Given the description of an element on the screen output the (x, y) to click on. 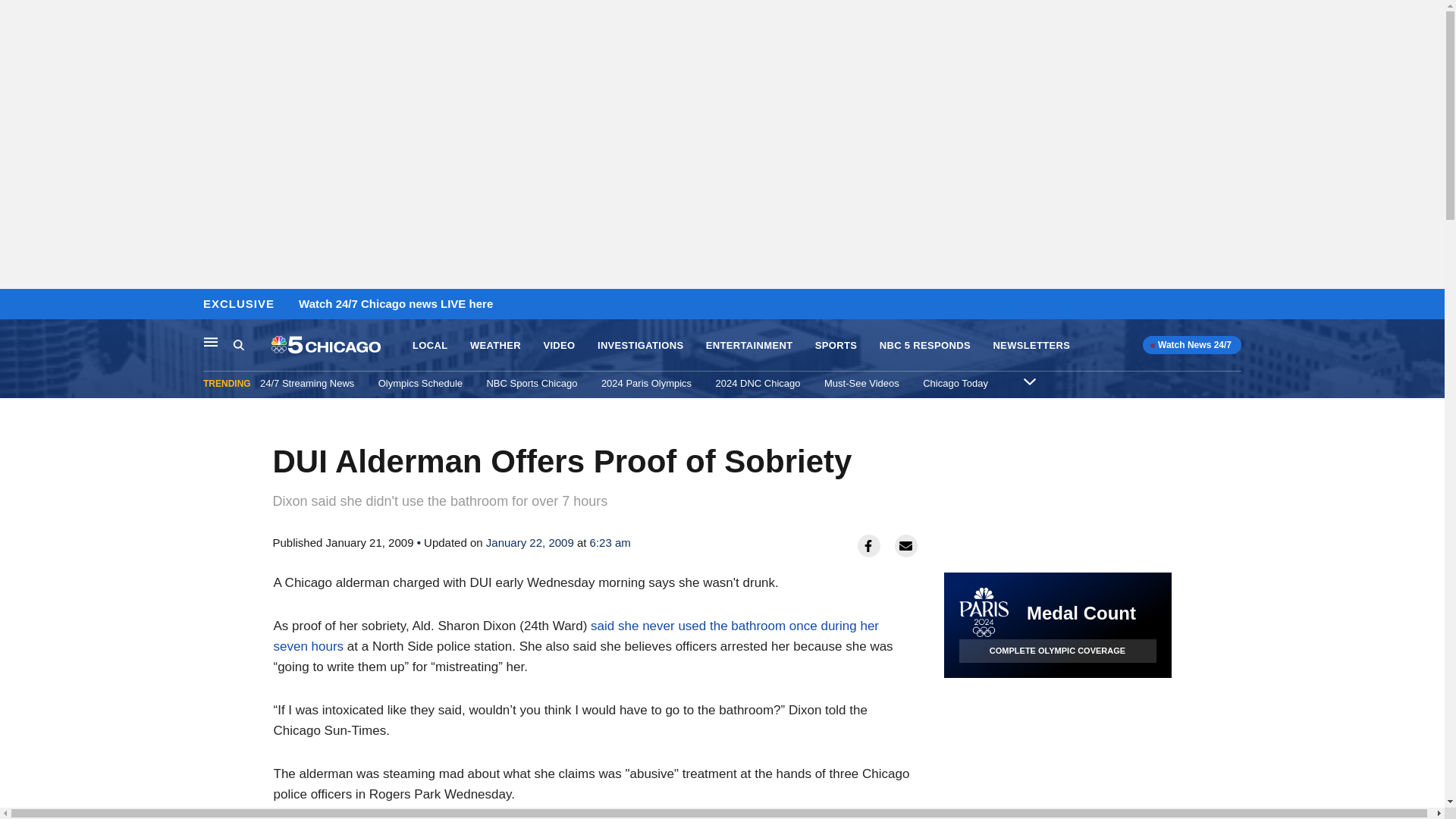
NBC Sports Chicago (531, 383)
NBC 5 RESPONDS (925, 345)
ENTERTAINMENT (749, 345)
NEWSLETTERS (1031, 345)
Skip to content (16, 304)
SPORTS (836, 345)
Search (252, 345)
COMPLETE OLYMPIC COVERAGE (1057, 650)
VIDEO (559, 345)
